Given the description of an element on the screen output the (x, y) to click on. 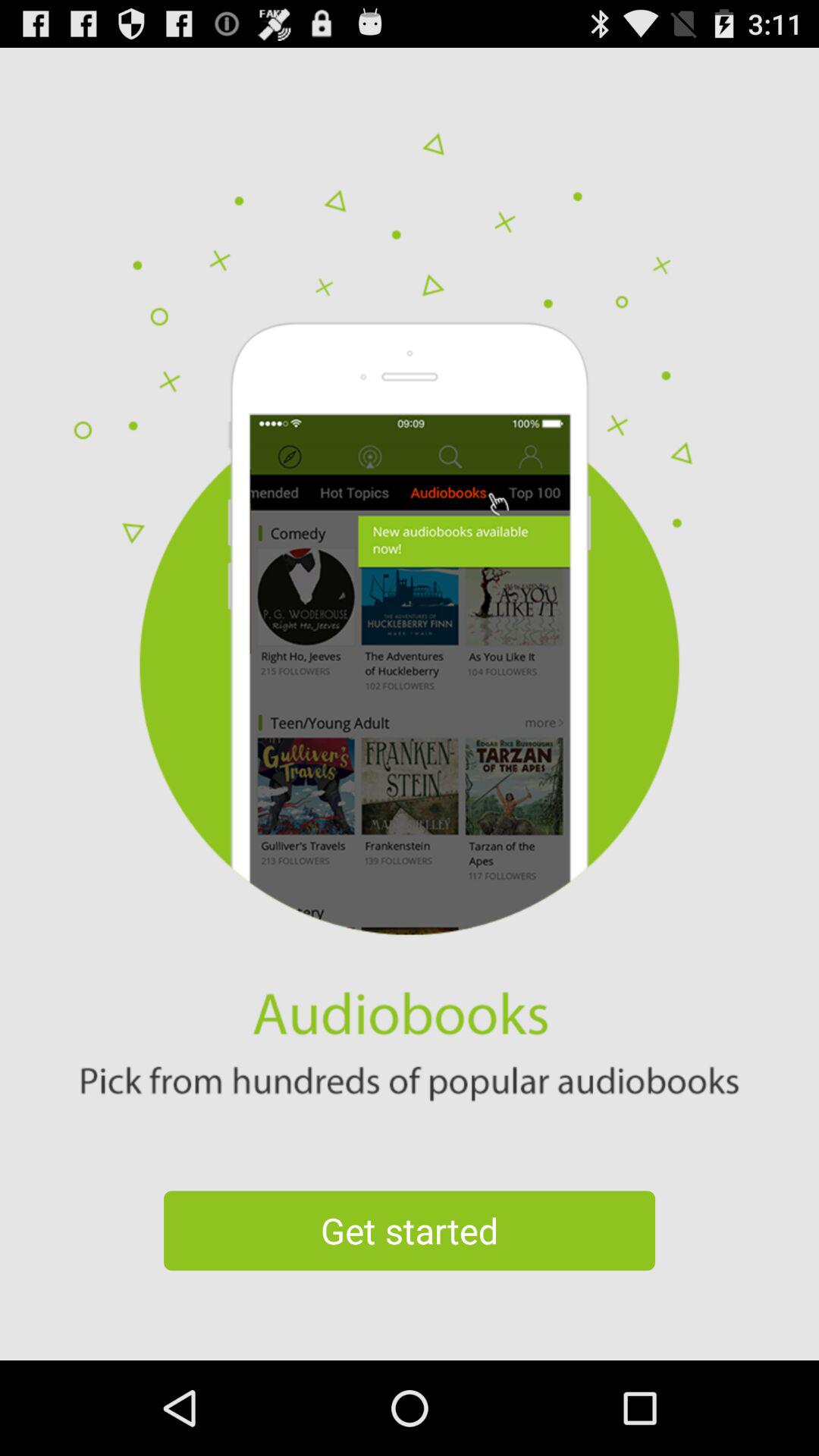
click the get started (409, 1230)
